Given the description of an element on the screen output the (x, y) to click on. 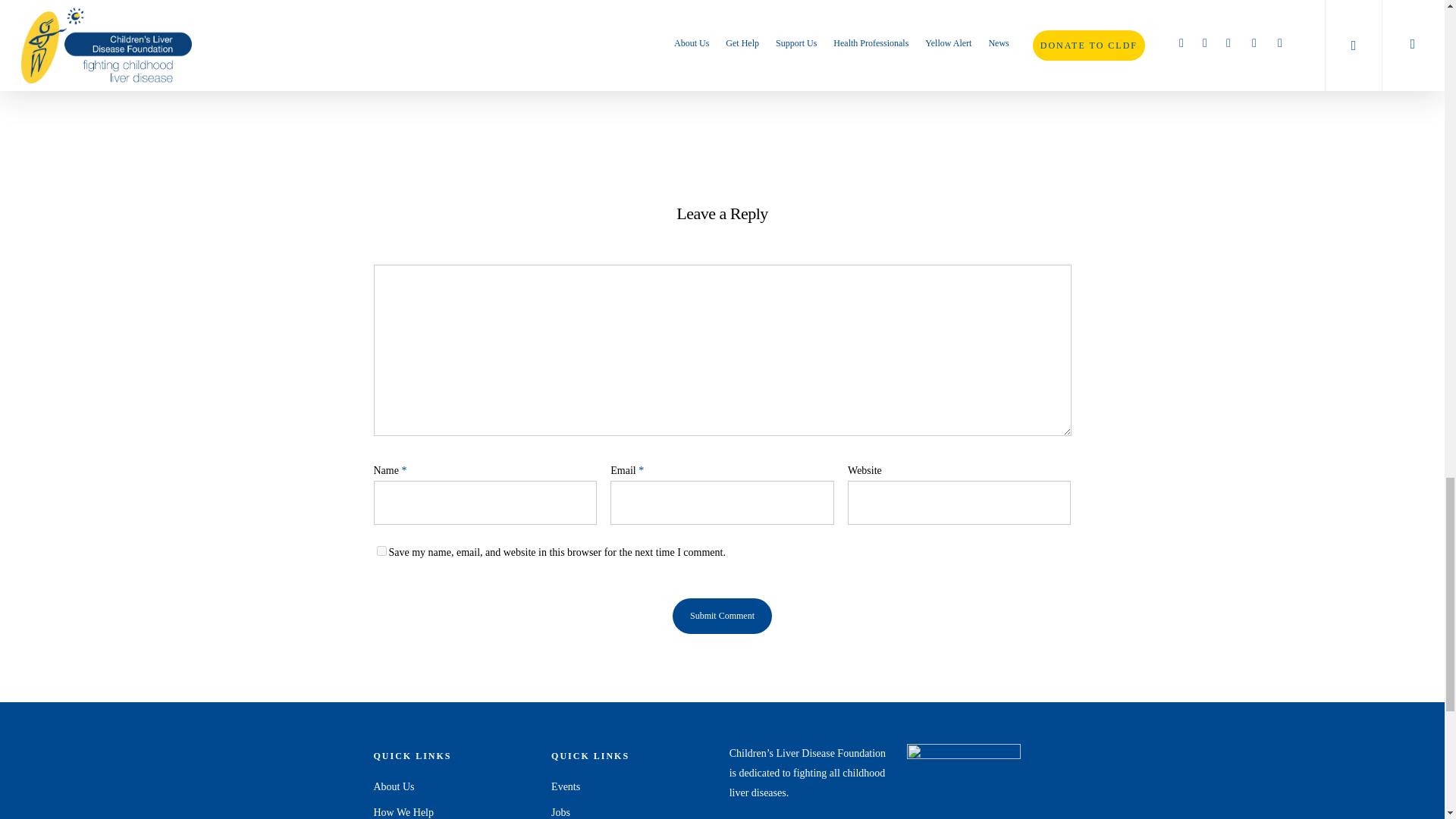
Submit Comment (721, 615)
Tweet this (617, 52)
yes (380, 551)
Share this (708, 52)
Love this (423, 52)
Share this (525, 52)
Share this (801, 52)
Pin this (887, 52)
